Given the description of an element on the screen output the (x, y) to click on. 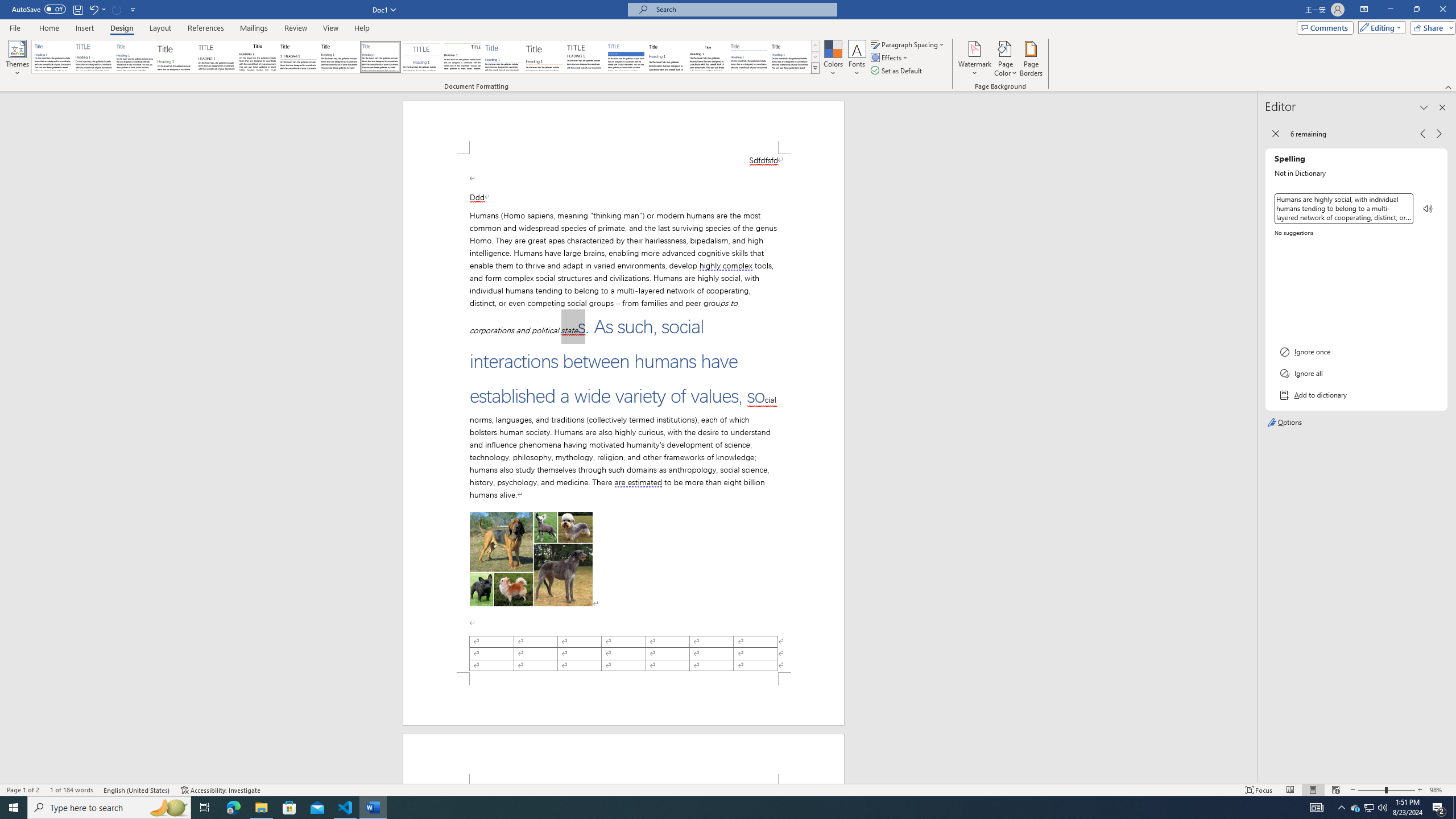
Undo Outline Move Up (92, 9)
Basic (Stylish) (175, 56)
Paragraph Spacing (908, 44)
Black & White (Classic) (257, 56)
Add to dictionary (1356, 395)
Centered (421, 56)
Ignore all (1356, 373)
AutomationID: QuickStylesSets (425, 56)
